Given the description of an element on the screen output the (x, y) to click on. 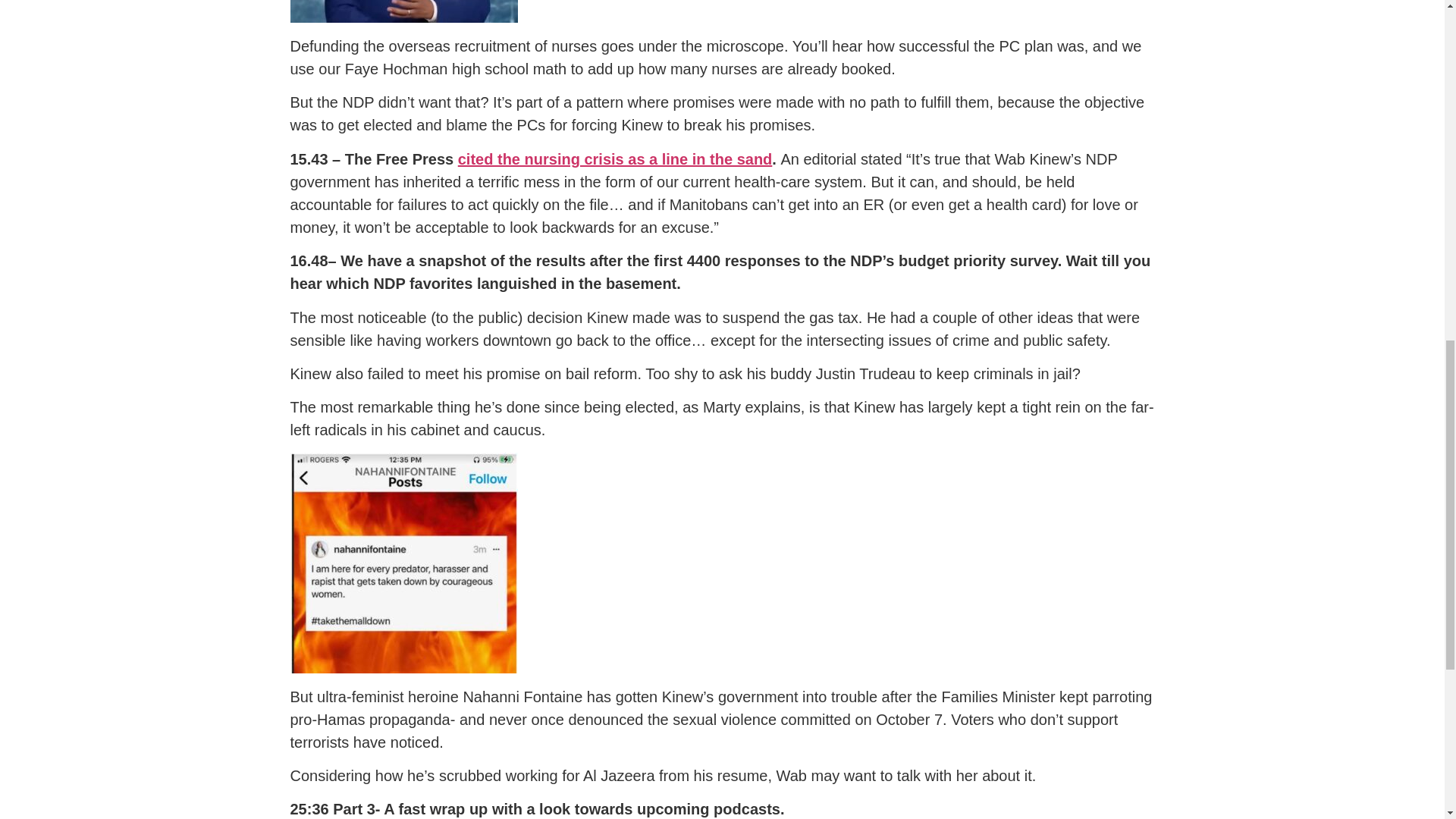
cited the nursing crisis as a line in the sand (615, 158)
